Given the description of an element on the screen output the (x, y) to click on. 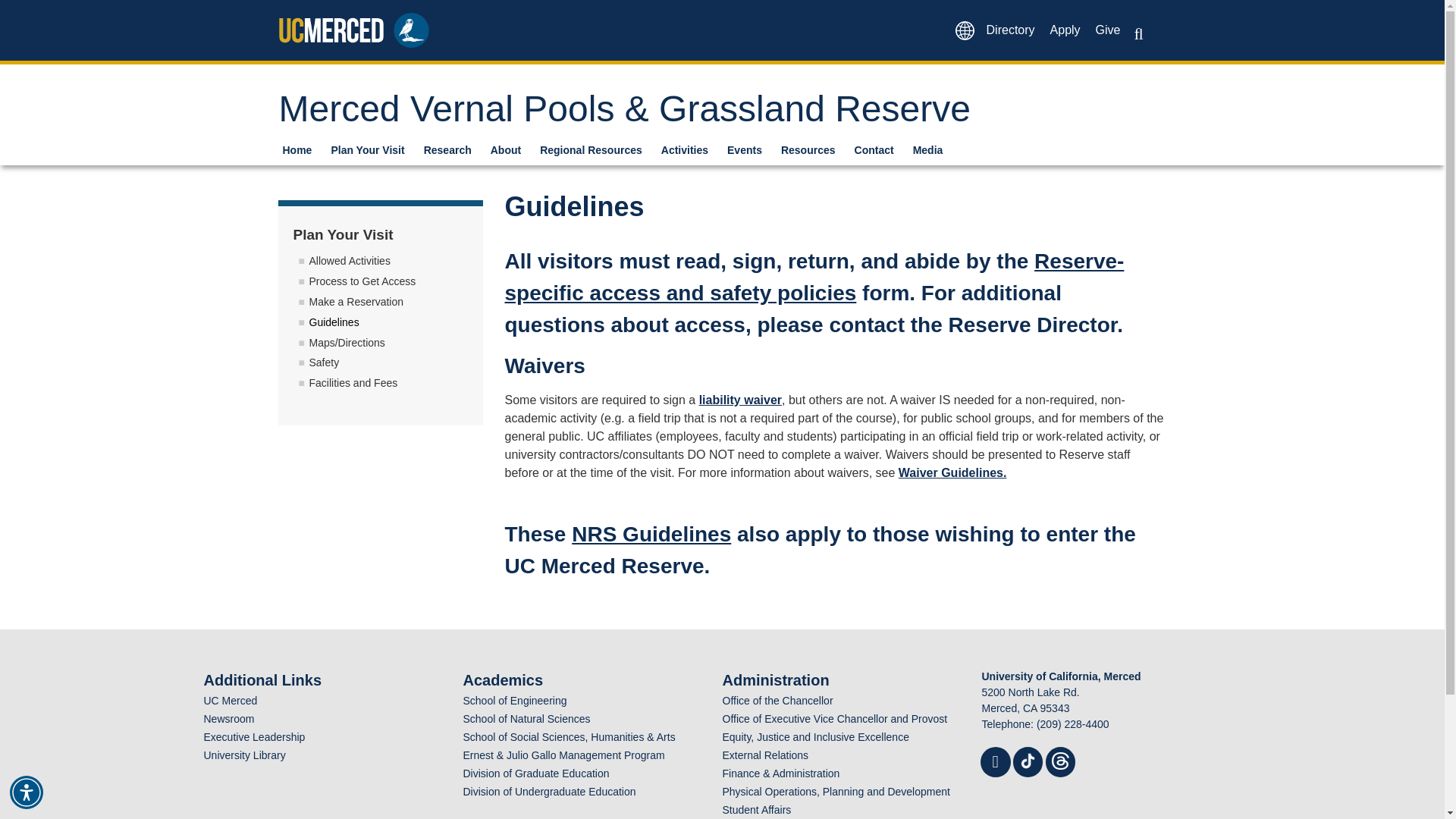
Regional Resources (596, 148)
Research (453, 148)
About (510, 148)
UC Merced Leadership (253, 736)
Search (25, 11)
Directory (1010, 30)
Events (750, 148)
liability waiver (739, 399)
Activities (690, 148)
Reserve-specific access and safety policies (814, 276)
UC Merced Library (244, 755)
NRS Guidelines (651, 534)
Home (303, 148)
UC Merced Home Page (230, 700)
Waiver Guidelines (952, 472)
